Given the description of an element on the screen output the (x, y) to click on. 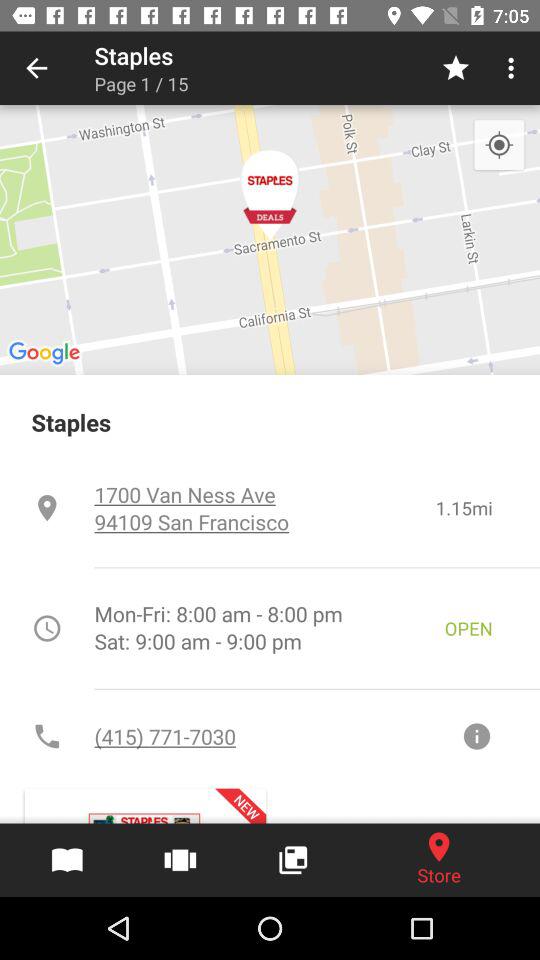
scroll to the 1700 van ness (264, 508)
